Given the description of an element on the screen output the (x, y) to click on. 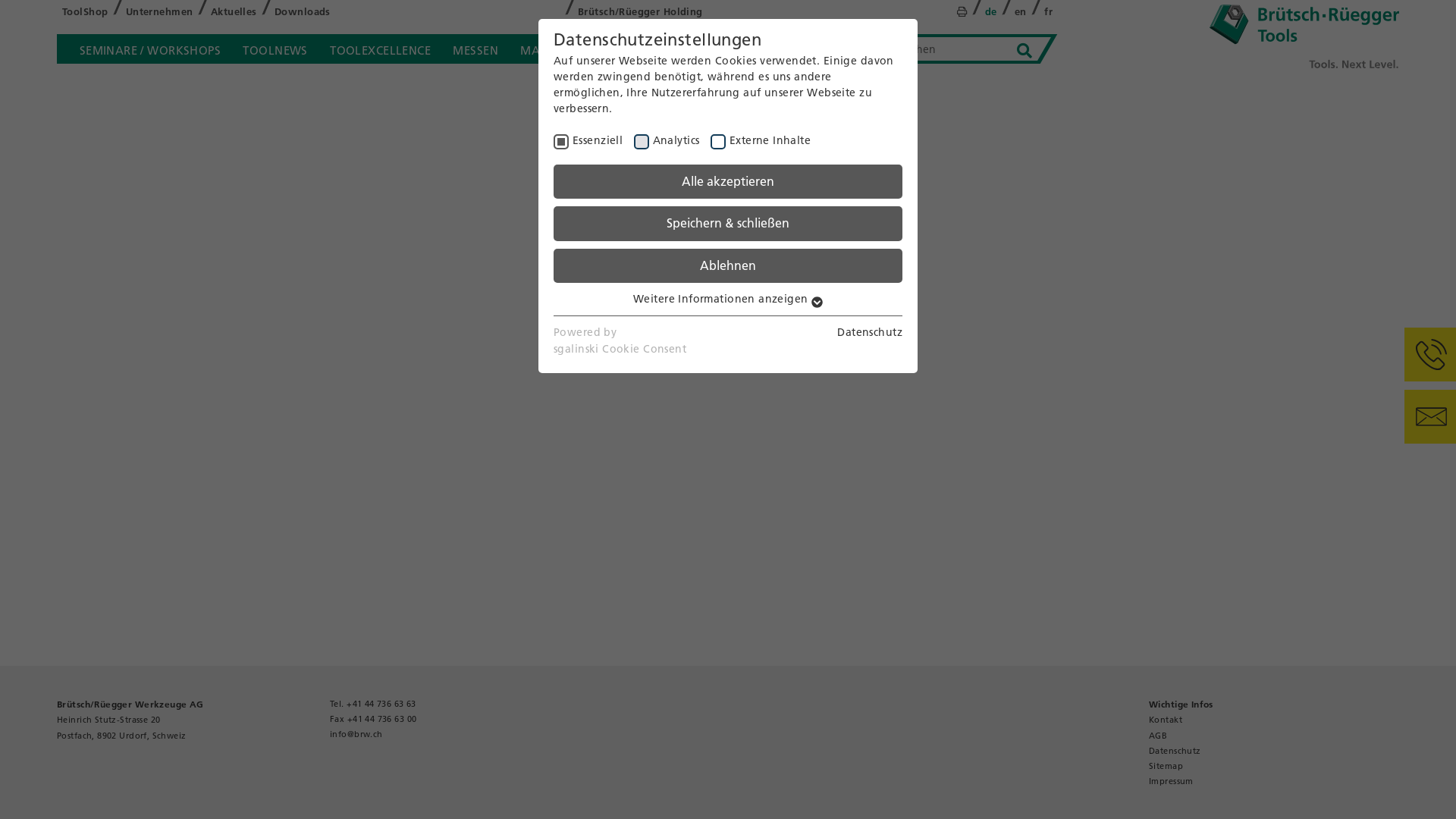
Sitemap Element type: text (1165, 765)
WETTBEWERB Element type: text (655, 48)
ToolShop Element type: text (84, 11)
de Element type: text (990, 11)
Downloads Element type: text (302, 11)
MESSEN Element type: text (475, 48)
Unternehmen Element type: text (159, 11)
Alle akzeptieren Element type: text (727, 181)
Powered by
sgalinski Cookie Consent Element type: text (619, 340)
info@brw.ch Element type: text (355, 733)
TOOLNEWS Element type: text (275, 48)
Weitere Informationen anzeigen Element type: text (727, 298)
Aktuelles Element type: text (233, 11)
Datenschutz Element type: text (869, 331)
MARKTPLATZ Element type: text (557, 48)
Search Element type: text (1024, 51)
SEMINARE / WORKSHOPS Element type: text (150, 48)
AGB Element type: text (1157, 735)
Kontakt Element type: text (1165, 719)
fr Element type: text (1047, 11)
Impressum Element type: text (1170, 780)
NEWSLETTER Element type: text (752, 48)
Datenschutz Element type: text (1174, 750)
TOOLEXCELLENCE Element type: text (380, 48)
Ablehnen Element type: text (727, 265)
en Element type: text (1020, 11)
